Given the description of an element on the screen output the (x, y) to click on. 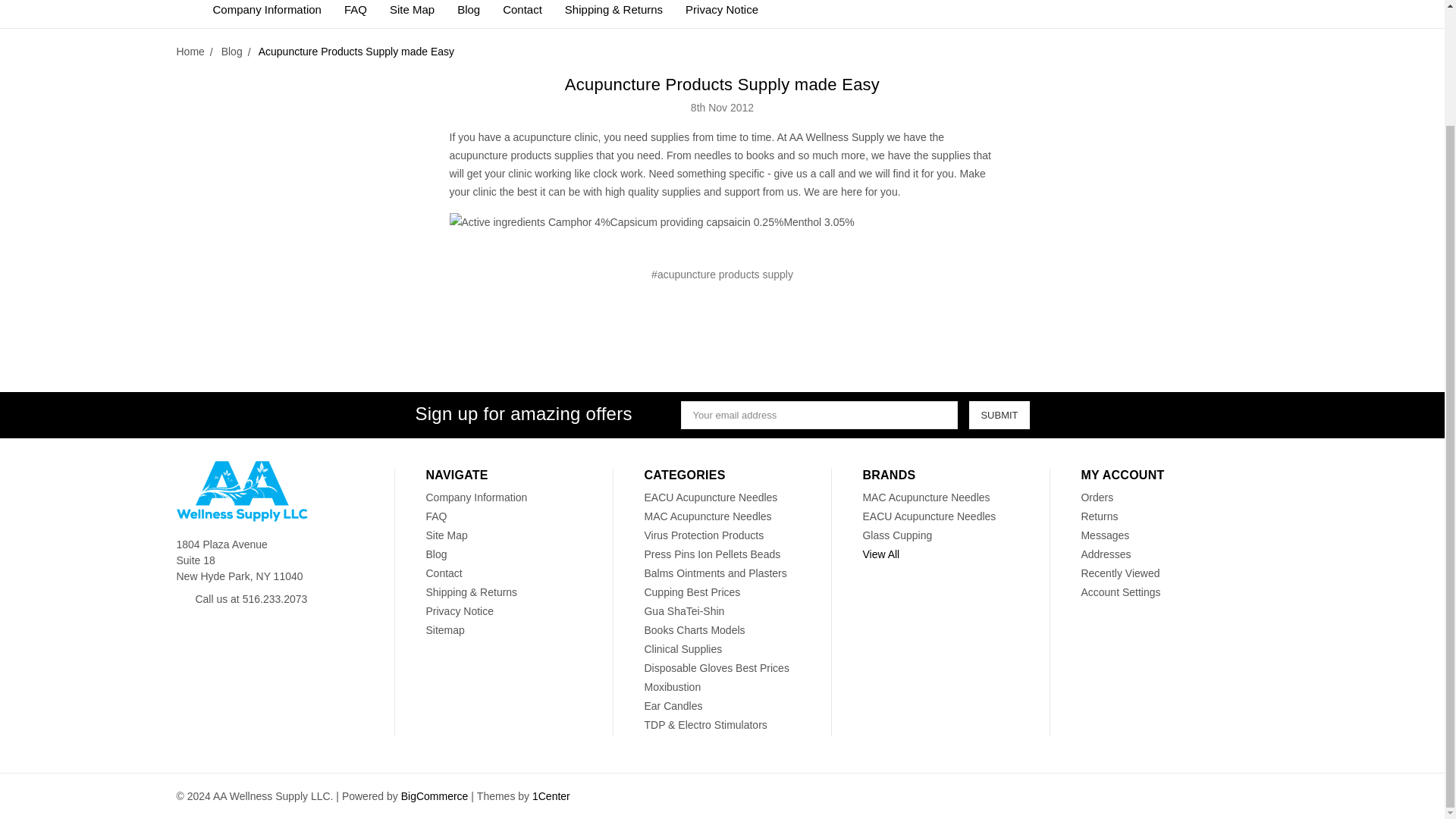
AA Wellness Supply LLC (241, 491)
Submit (999, 415)
